Given the description of an element on the screen output the (x, y) to click on. 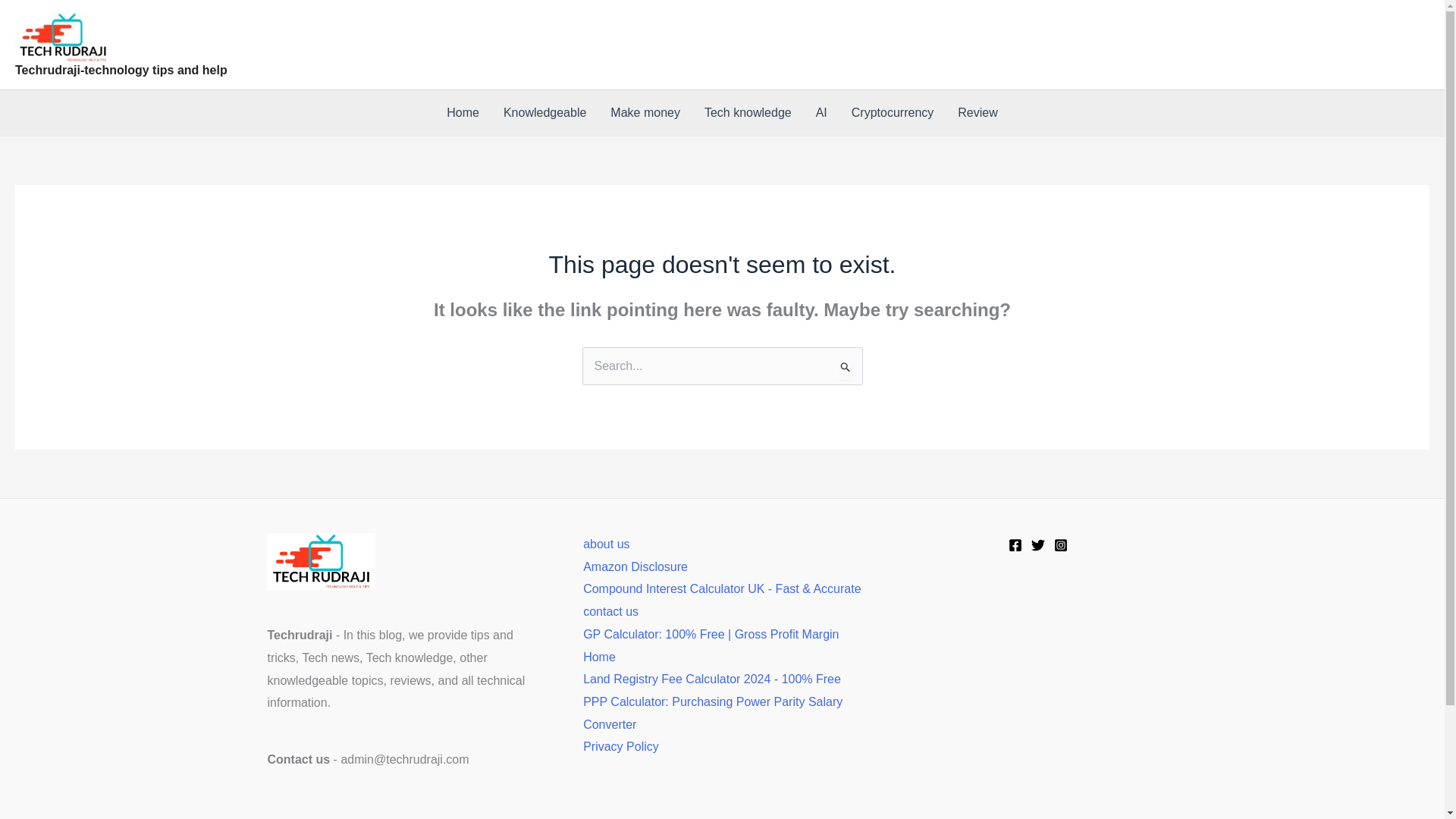
Tech knowledge (748, 112)
Techrudraji-technology tips and help (120, 69)
Knowledgeable (545, 112)
contact us (611, 611)
Make money (645, 112)
Amazon Disclosure (635, 566)
Cryptocurrency (892, 112)
Privacy Policy (621, 746)
Review (976, 112)
Home (599, 656)
about us (605, 543)
Home (462, 112)
PPP Calculator: Purchasing Power Parity Salary Converter (713, 713)
